Given the description of an element on the screen output the (x, y) to click on. 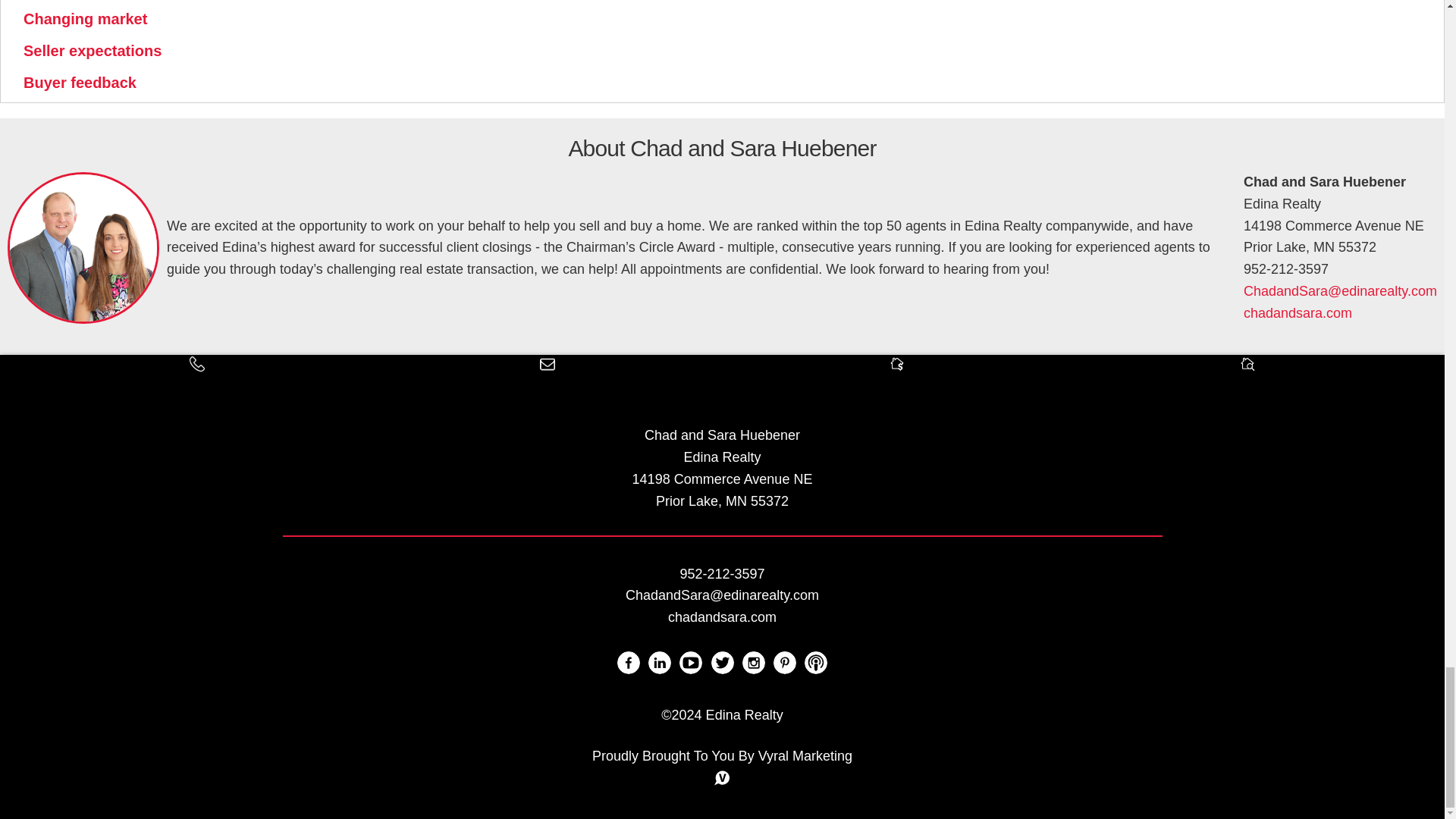
Facbook (628, 662)
YouTube (690, 662)
Linkedin (659, 662)
Twitter (722, 662)
